Given the description of an element on the screen output the (x, y) to click on. 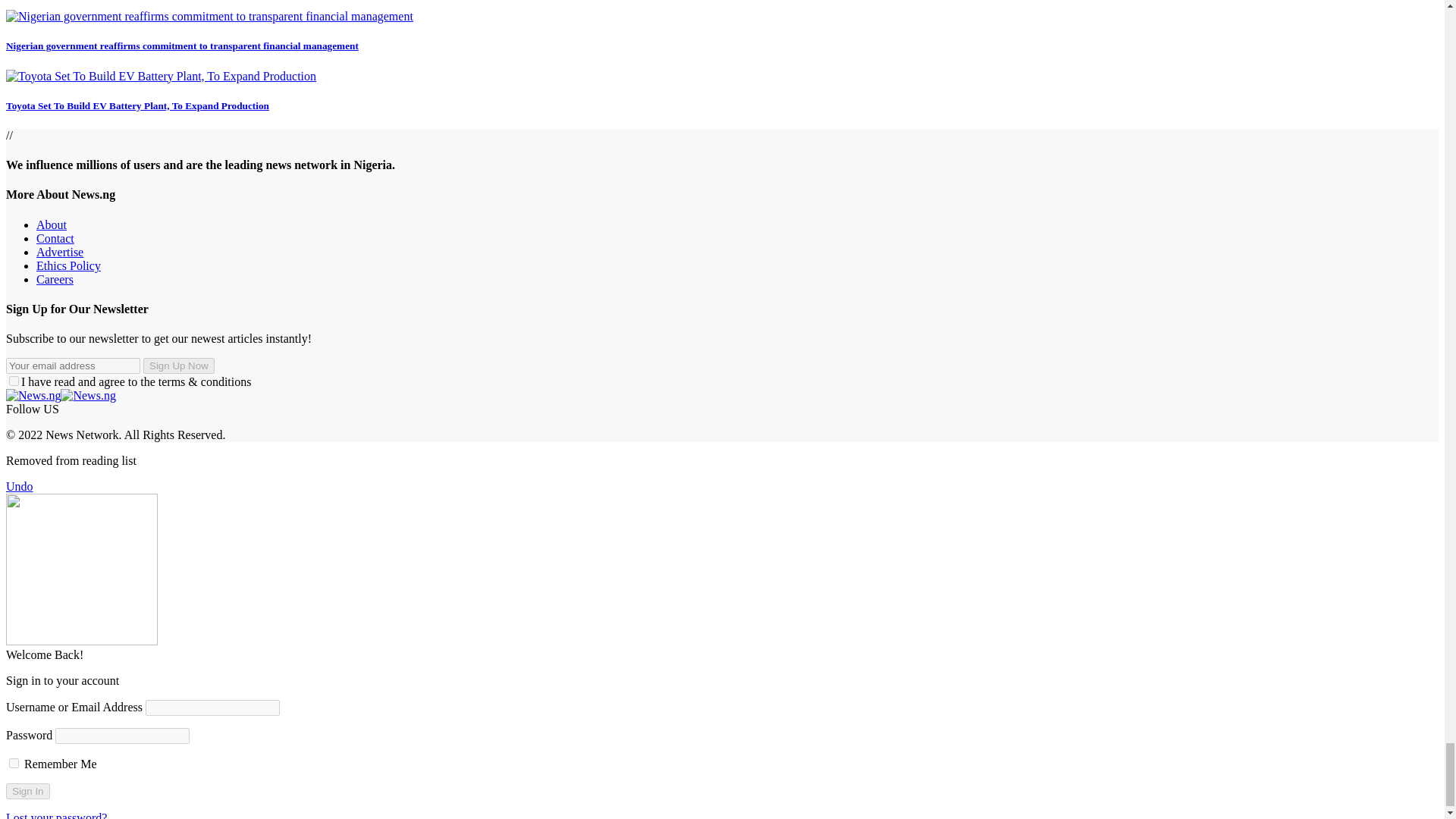
1 (13, 380)
Sign In (27, 790)
Sign Up Now (178, 365)
forever (13, 763)
News.ng (60, 395)
Toyota Set To Build EV Battery Plant, To Expand Production (160, 75)
